Given the description of an element on the screen output the (x, y) to click on. 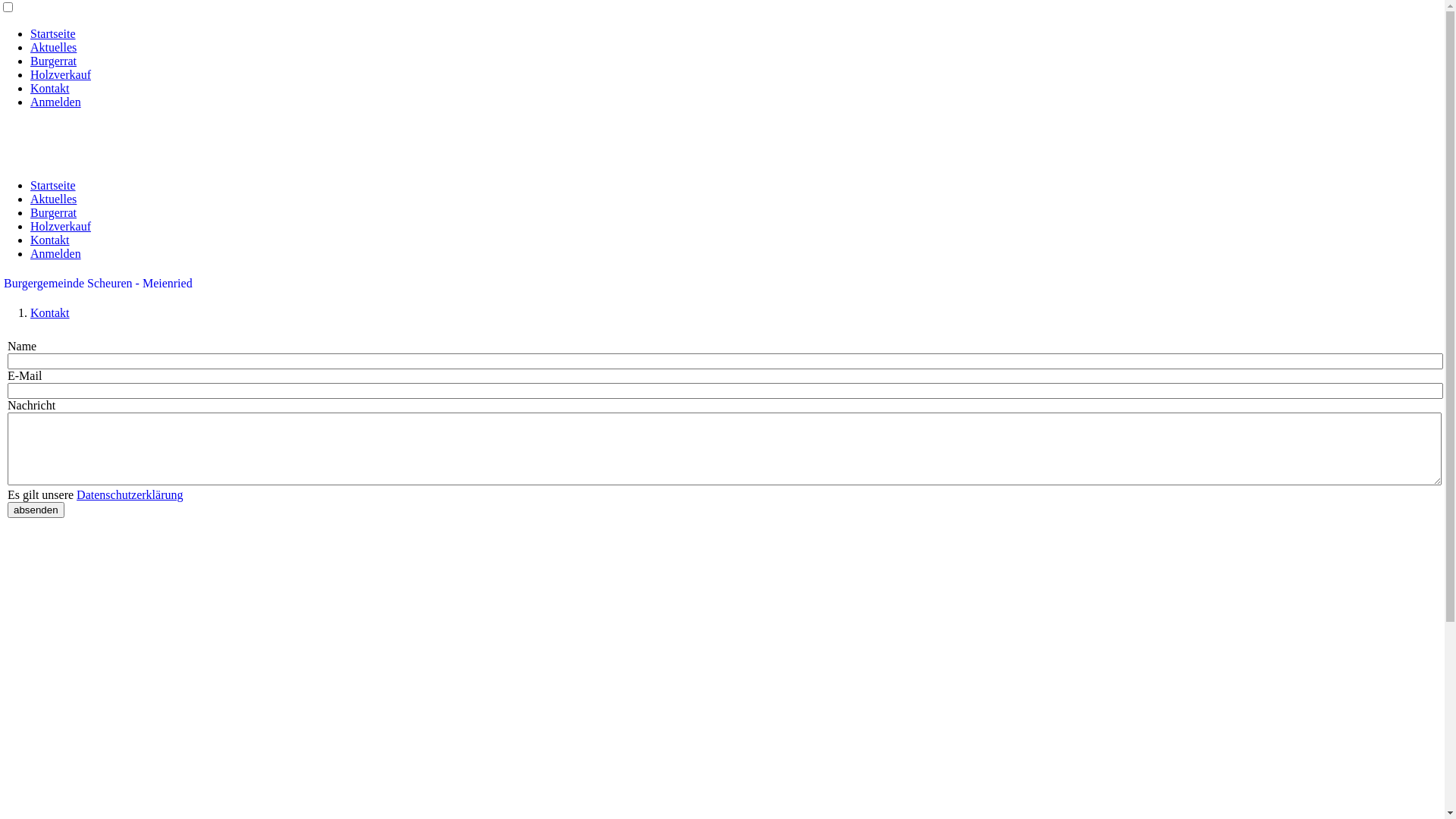
Aktuelles Element type: text (53, 46)
Holzverkauf Element type: text (60, 225)
Startseite Element type: text (52, 184)
Burgerrat Element type: text (53, 60)
Kontakt Element type: text (49, 87)
Anmelden Element type: text (55, 253)
Burgerrat Element type: text (53, 212)
Startseite Element type: text (52, 33)
Kontakt Element type: text (49, 239)
Kontakt Element type: text (49, 312)
absenden Element type: text (35, 509)
Anmelden Element type: text (55, 101)
Aktuelles Element type: text (53, 198)
Holzverkauf Element type: text (60, 74)
Burgergemeinde Scheuren - Meienried Element type: text (97, 282)
